Given the description of an element on the screen output the (x, y) to click on. 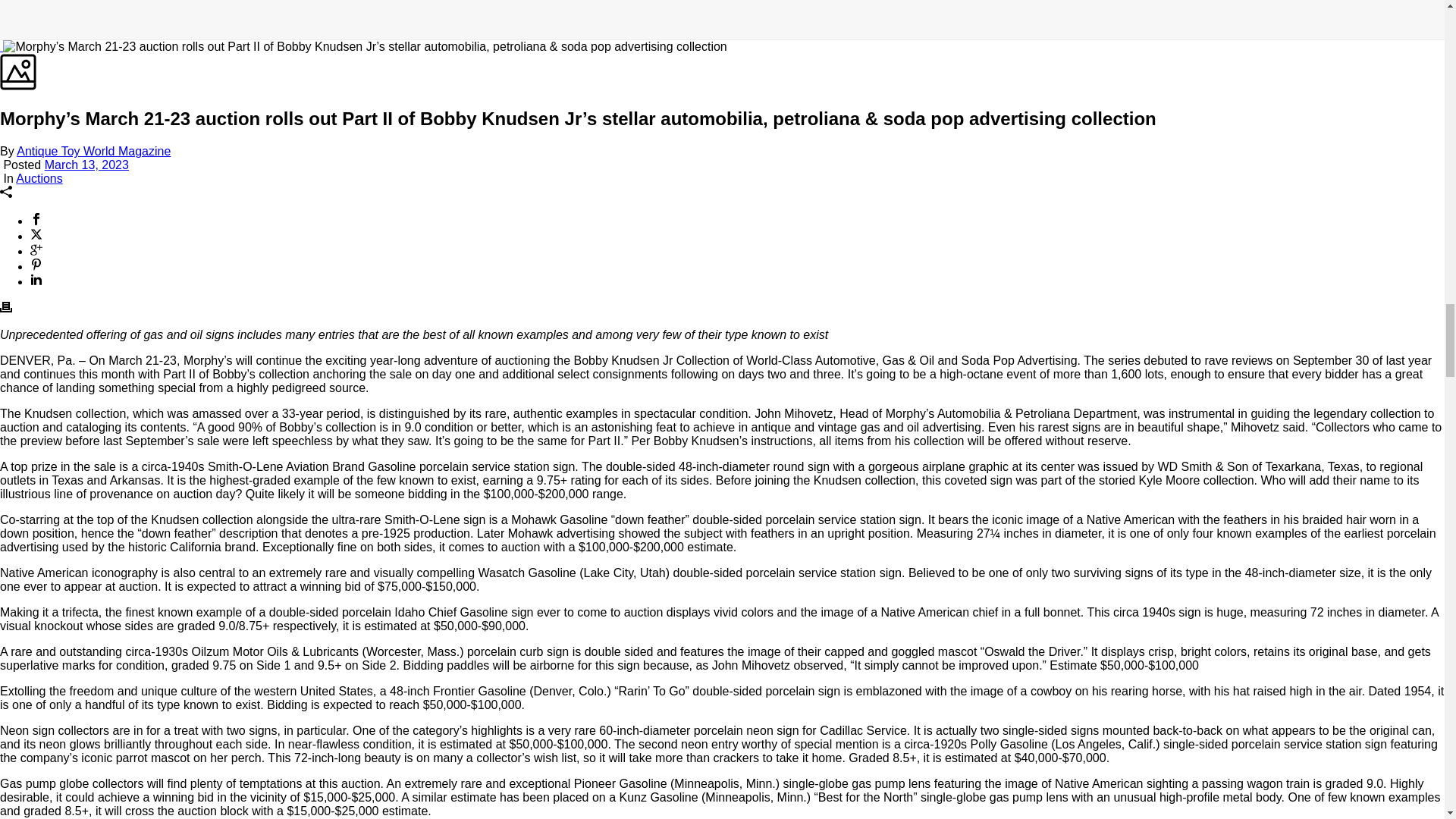
Antique Toy World Magazine (93, 151)
Print (5, 308)
Posts by Antique Toy World Magazine (93, 151)
Auctions (39, 178)
March 13, 2023 (87, 164)
